Given the description of an element on the screen output the (x, y) to click on. 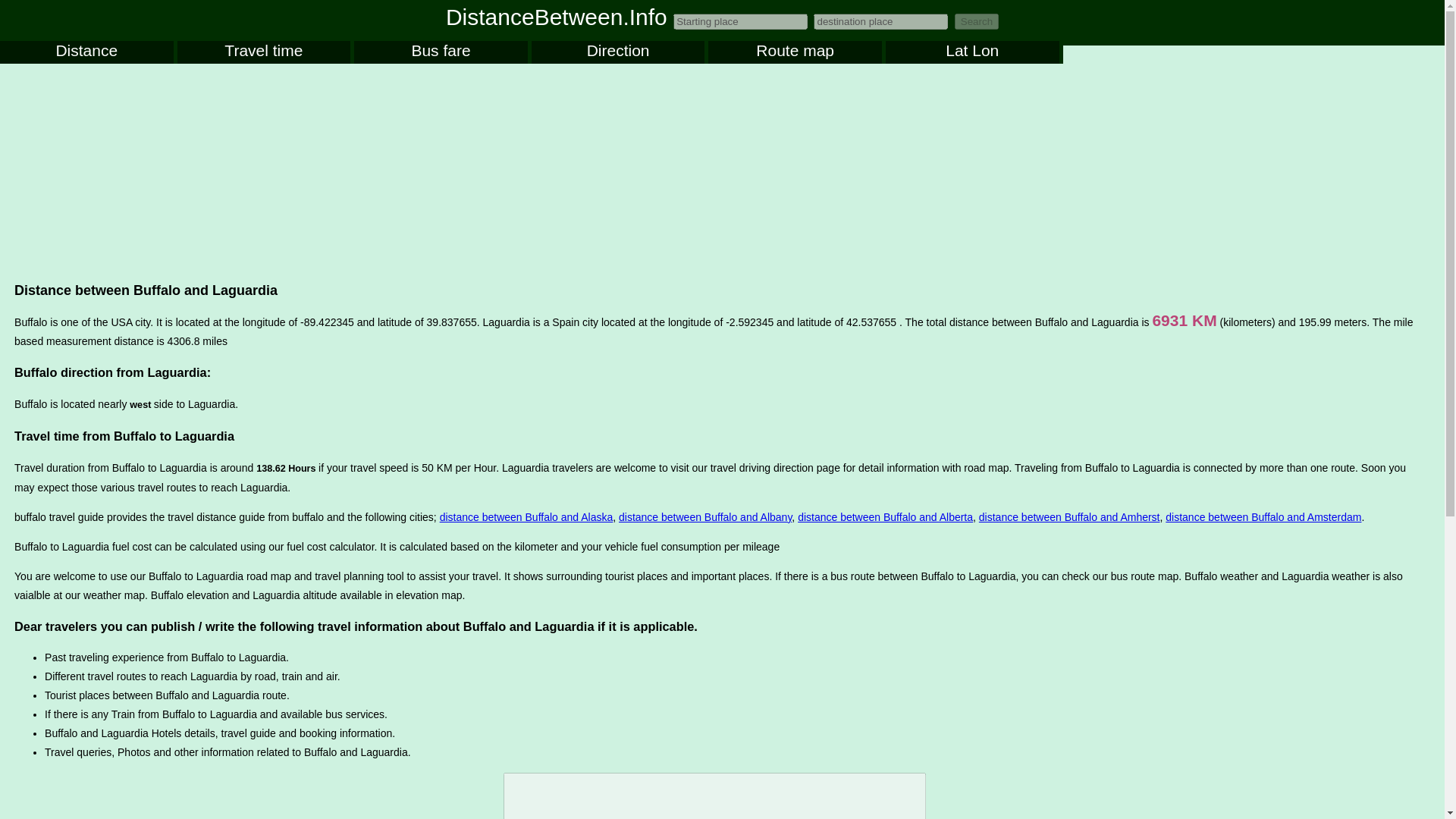
Distance (86, 51)
Direction (617, 51)
Bus fare (440, 51)
Travel time (263, 51)
distance between Buffalo and Alaska (525, 517)
Search (976, 21)
distance between Buffalo and Amherst (1069, 517)
Route map (794, 51)
distance between Buffalo and Albany (705, 517)
distance between Buffalo and Alberta (884, 517)
Starting place (740, 21)
destination place (880, 21)
distance between Buffalo and Amsterdam (1263, 517)
Lat Lon (972, 51)
